Given the description of an element on the screen output the (x, y) to click on. 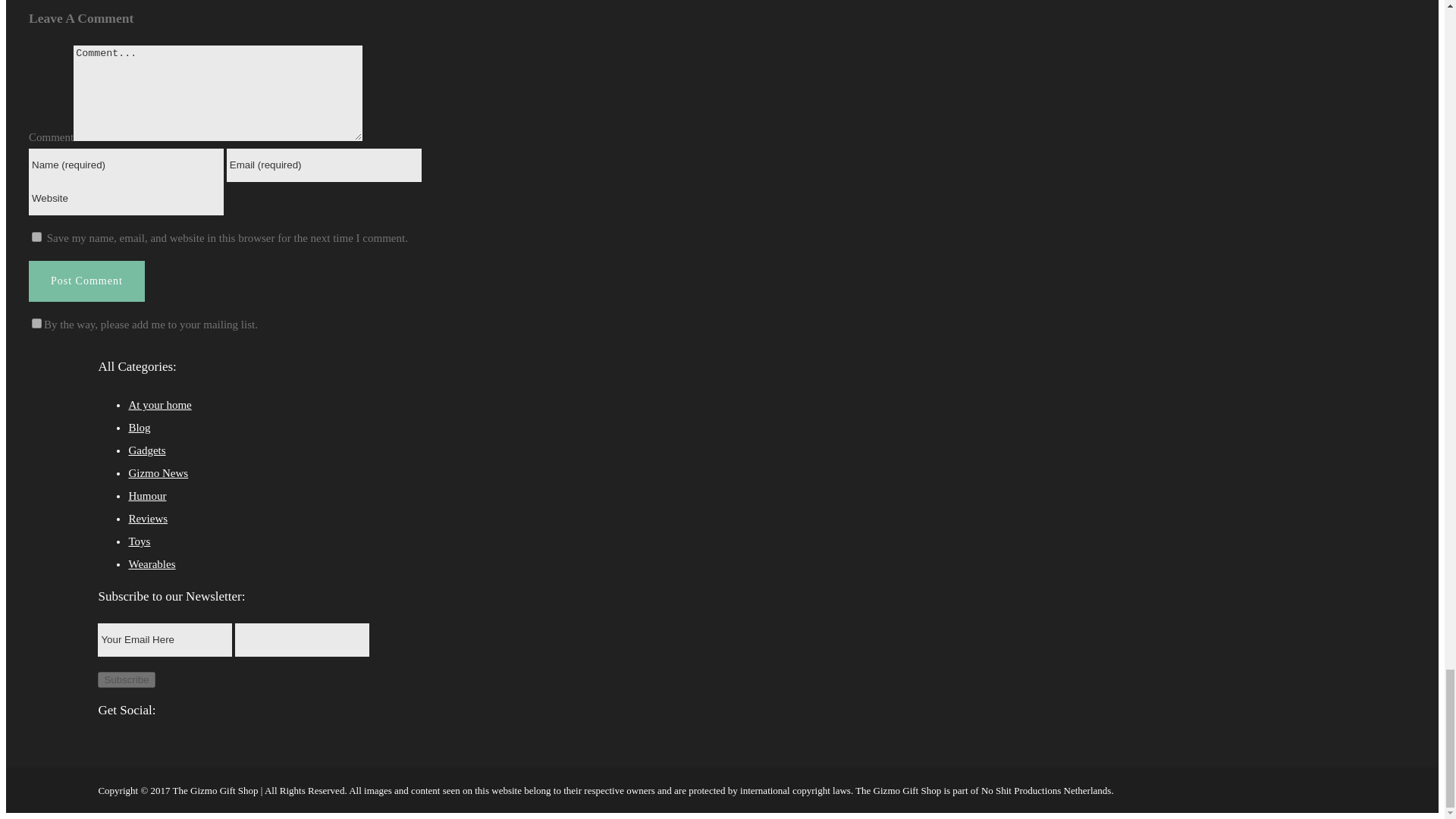
Your Email Here (164, 639)
yes (37, 236)
Subscribe (125, 679)
Post Comment (86, 281)
1 (37, 323)
